Given the description of an element on the screen output the (x, y) to click on. 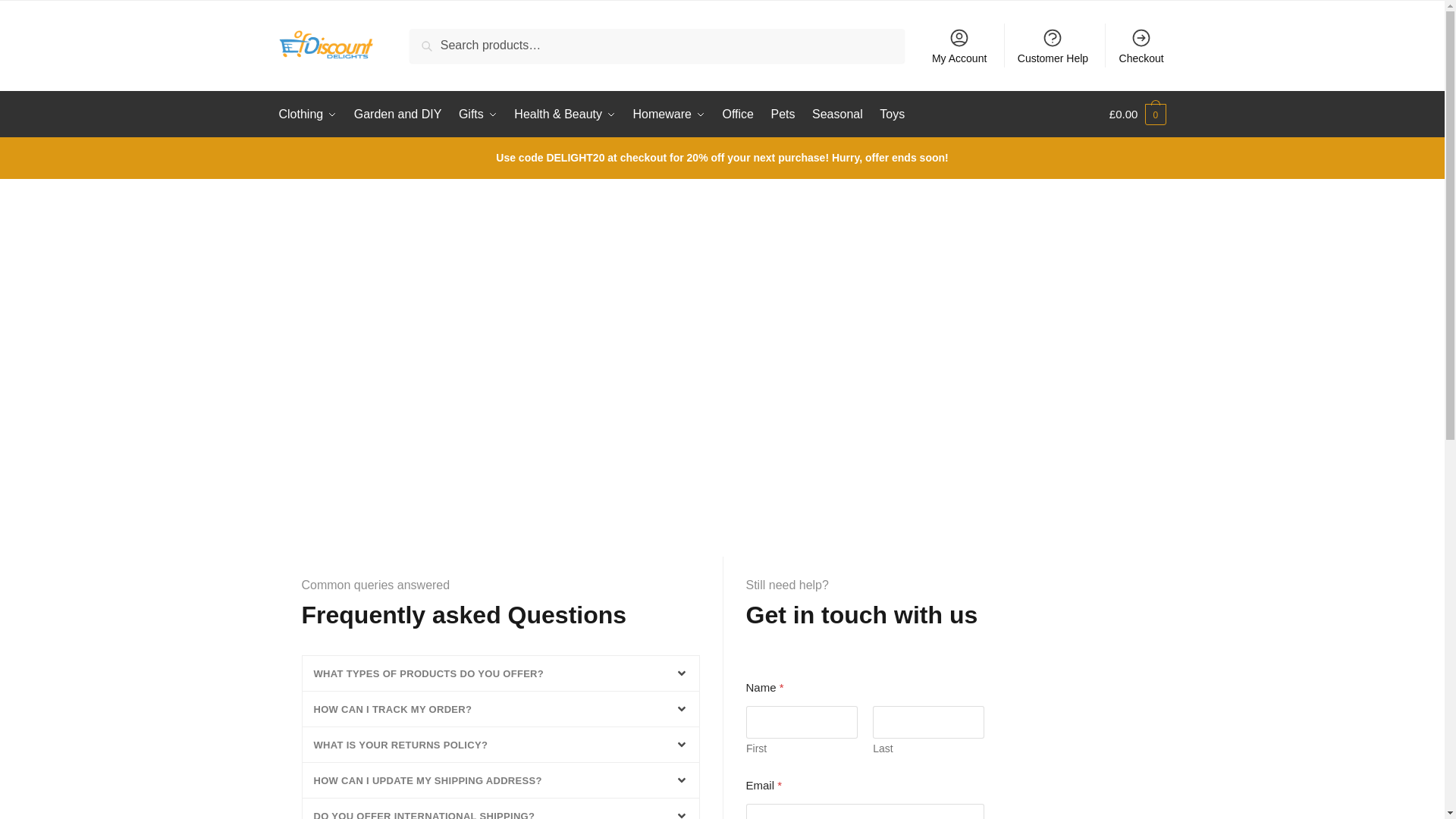
My Account (959, 45)
Homeware (668, 114)
Seasonal (837, 114)
Clothing (311, 114)
Gifts (477, 114)
Checkout (1141, 45)
Office (738, 114)
Customer Help (1053, 45)
View your shopping cart (1137, 114)
Garden and DIY (397, 114)
